Given the description of an element on the screen output the (x, y) to click on. 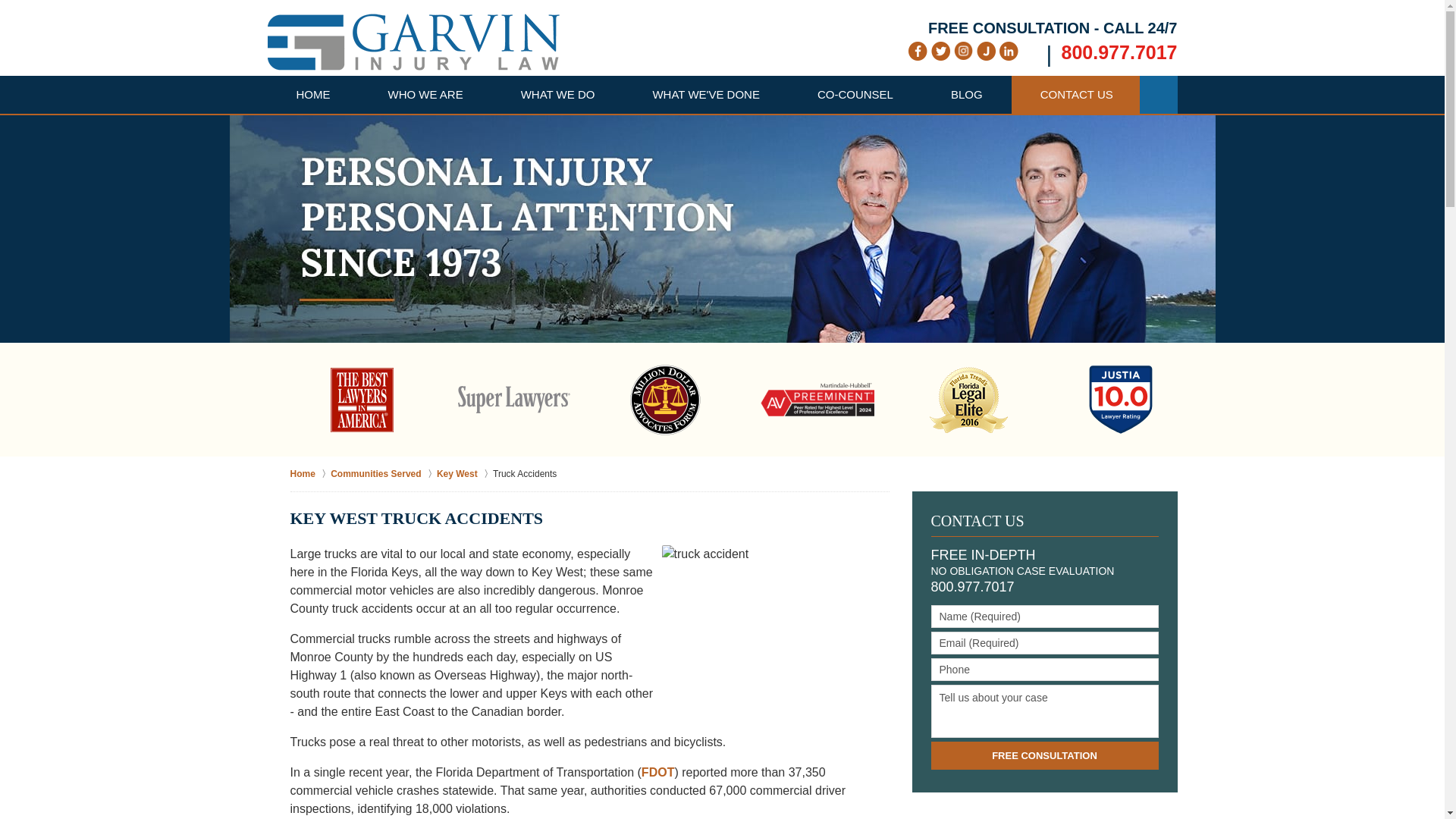
HOME (312, 94)
Twitter (940, 50)
Instagram (962, 50)
WHO WE ARE (425, 94)
Justia (985, 50)
Garvin Injury Law Home (412, 41)
Back to Home (412, 41)
Facebook (917, 50)
WHAT WE DO (558, 94)
800.977.7017 (1119, 52)
